Given the description of an element on the screen output the (x, y) to click on. 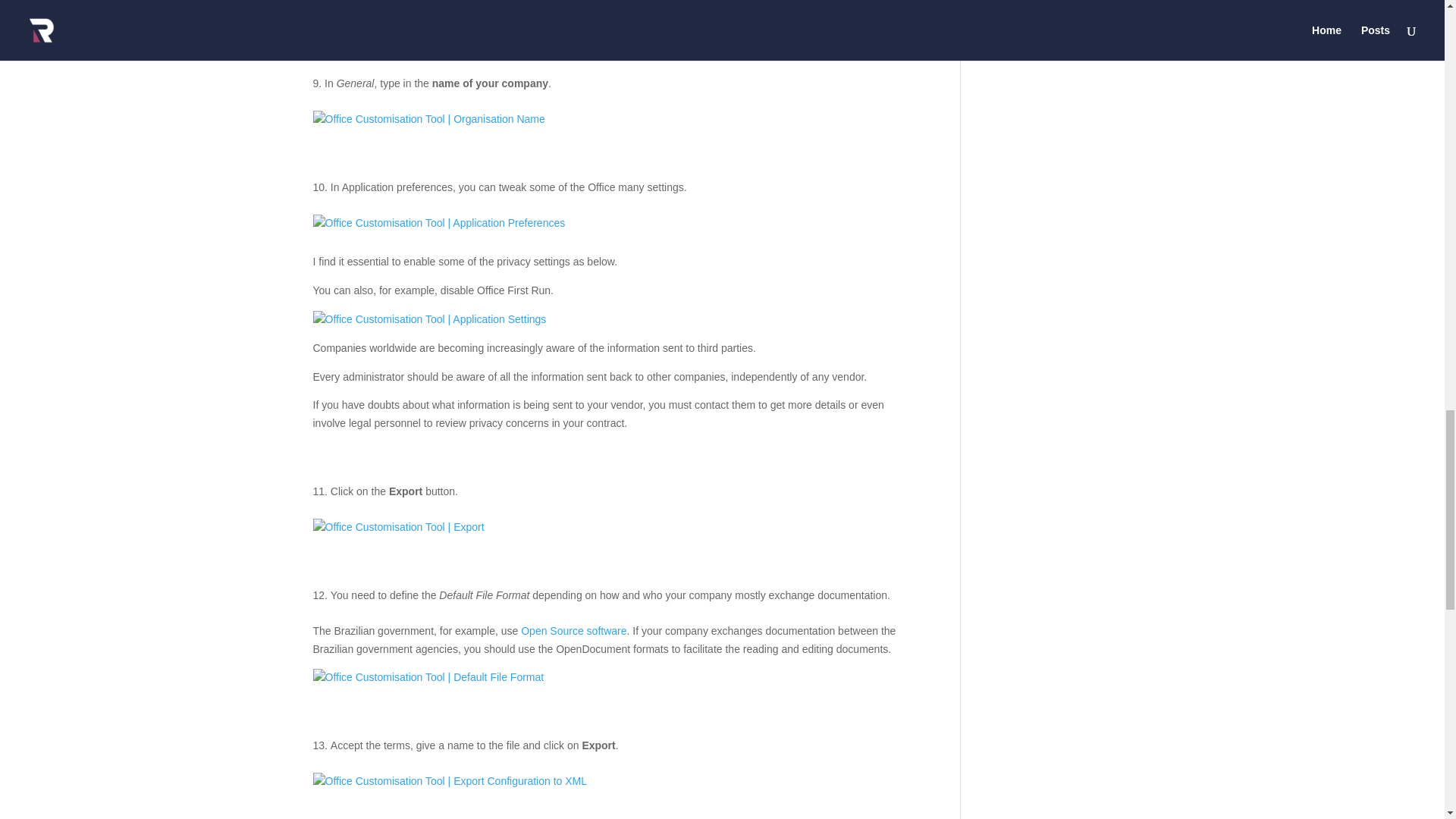
Open Source software (573, 630)
